Given the description of an element on the screen output the (x, y) to click on. 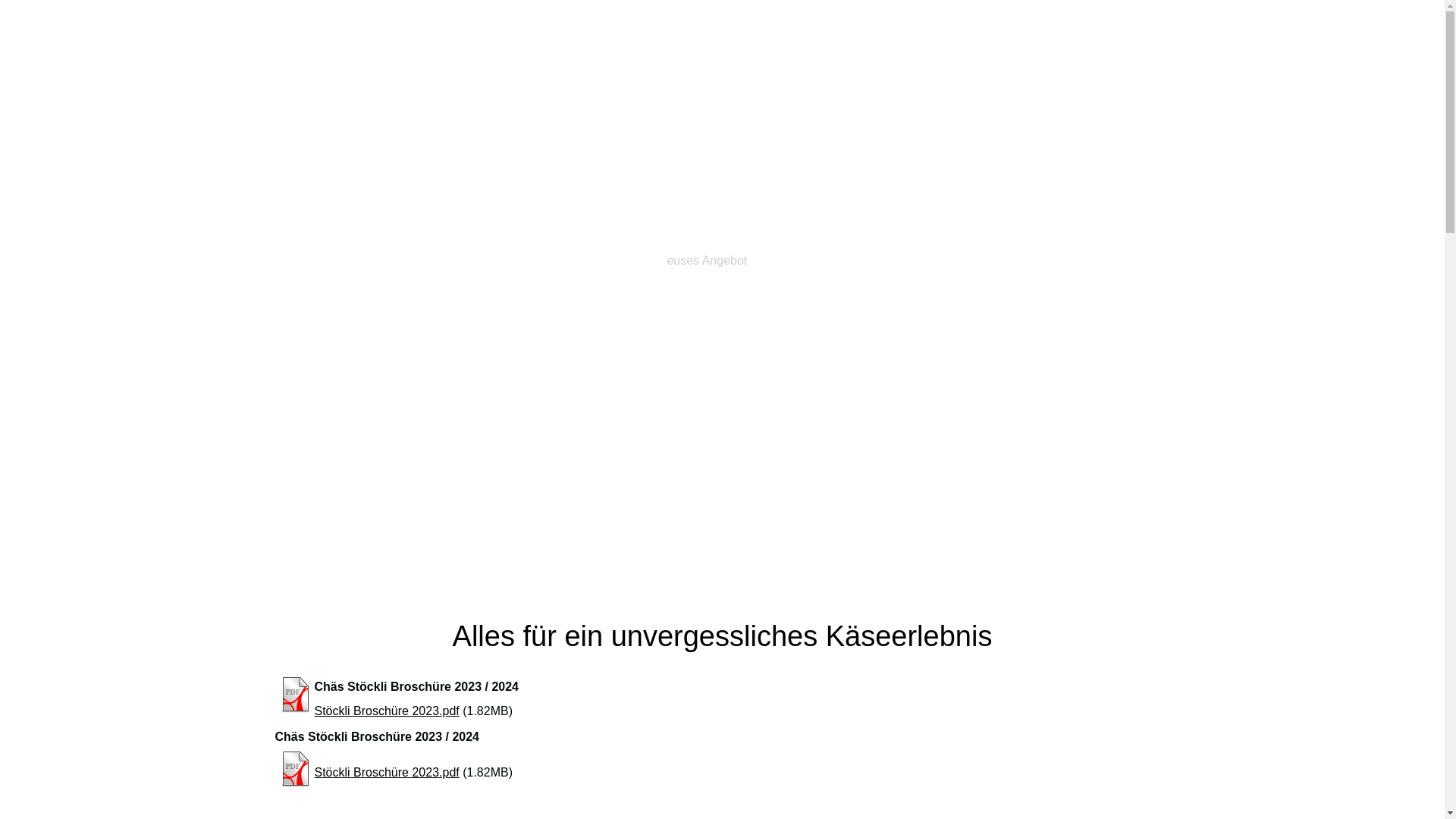
euses Angebot Element type: text (706, 260)
Bstellige / Kontakt Element type: text (930, 260)
euses Raclette Element type: text (811, 260)
